Given the description of an element on the screen output the (x, y) to click on. 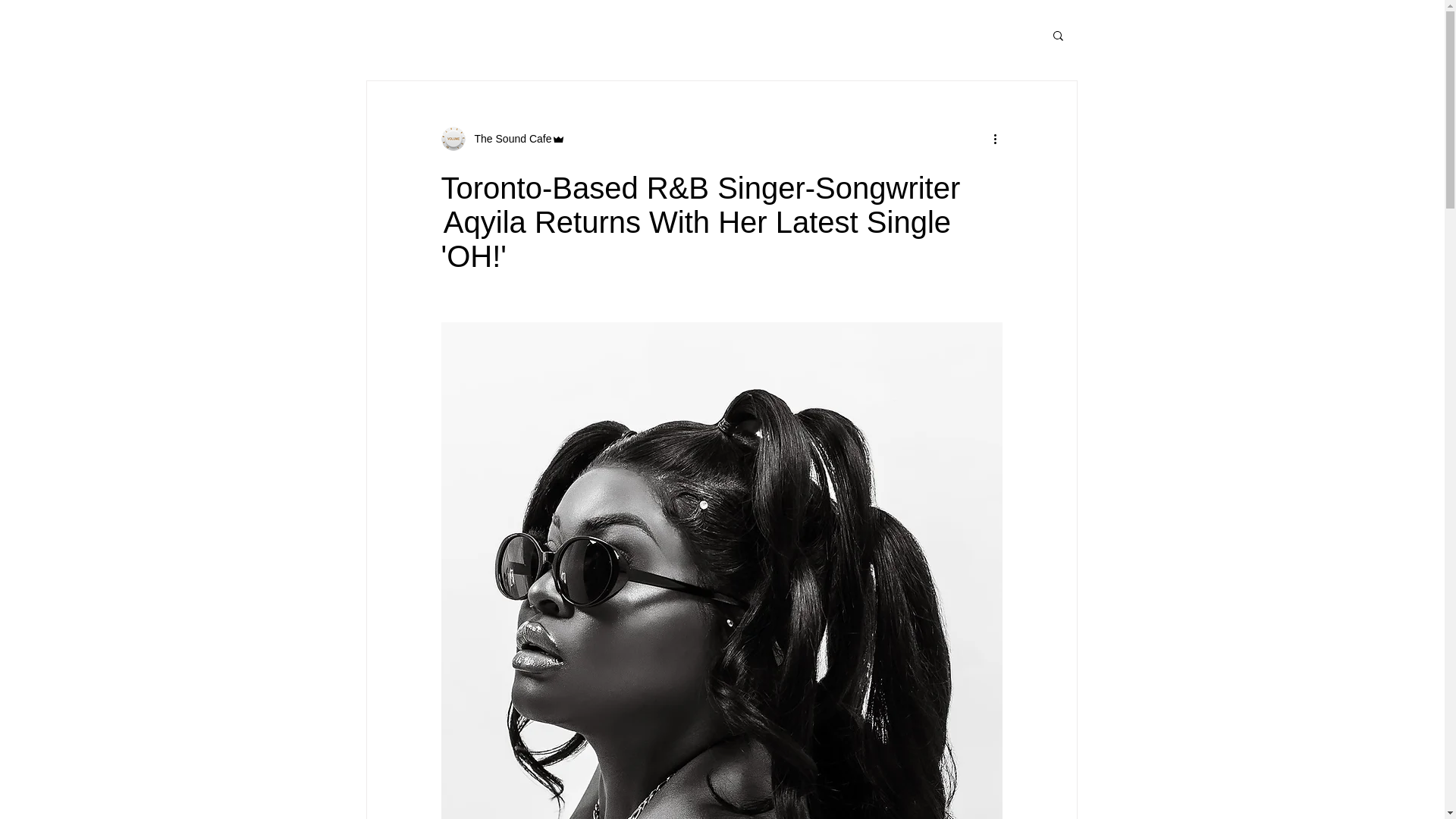
The Sound Cafe (508, 138)
